Given the description of an element on the screen output the (x, y) to click on. 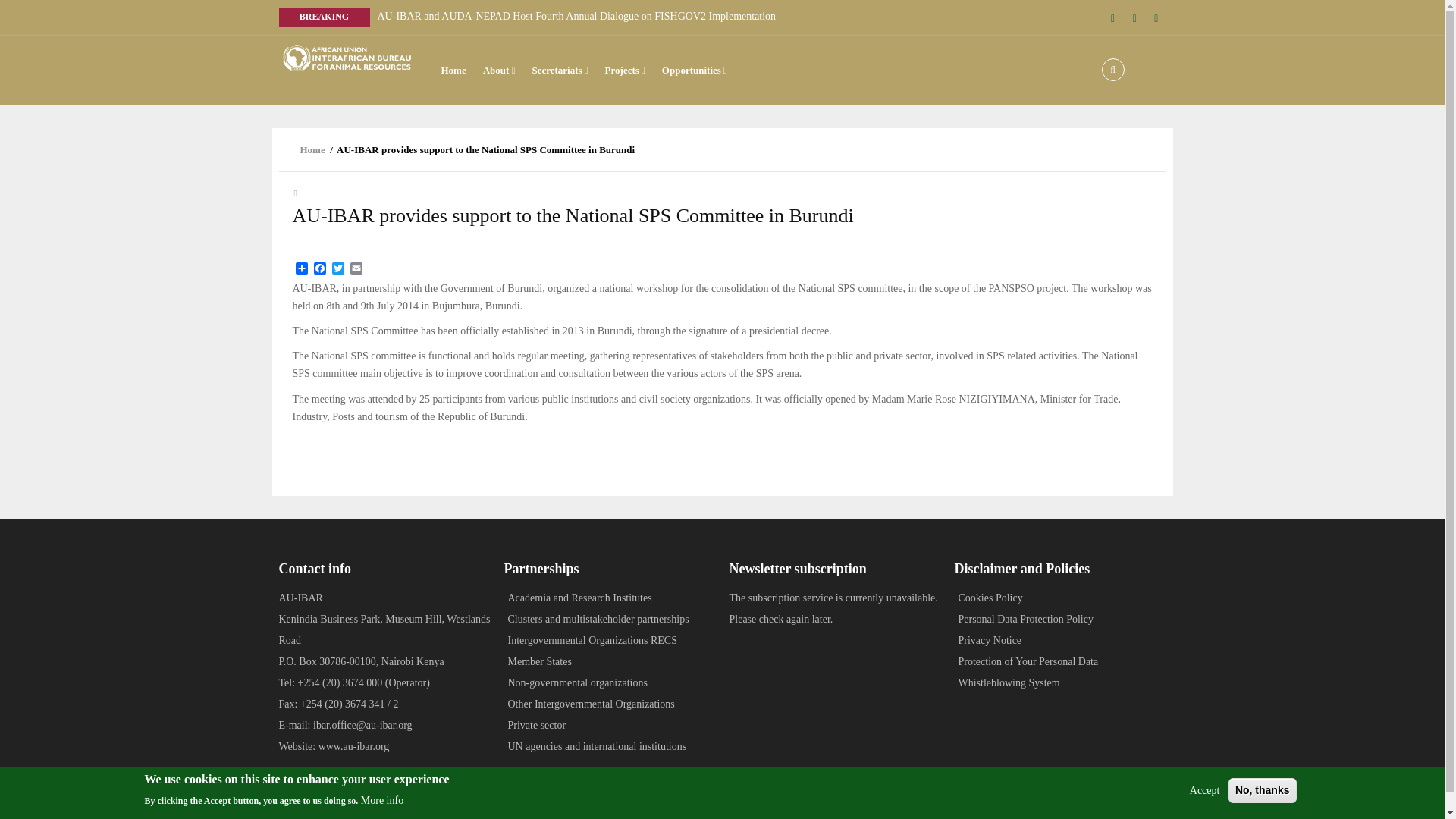
Home (346, 57)
Home (731, 808)
Secretariats (558, 69)
Projects (624, 69)
